Given the description of an element on the screen output the (x, y) to click on. 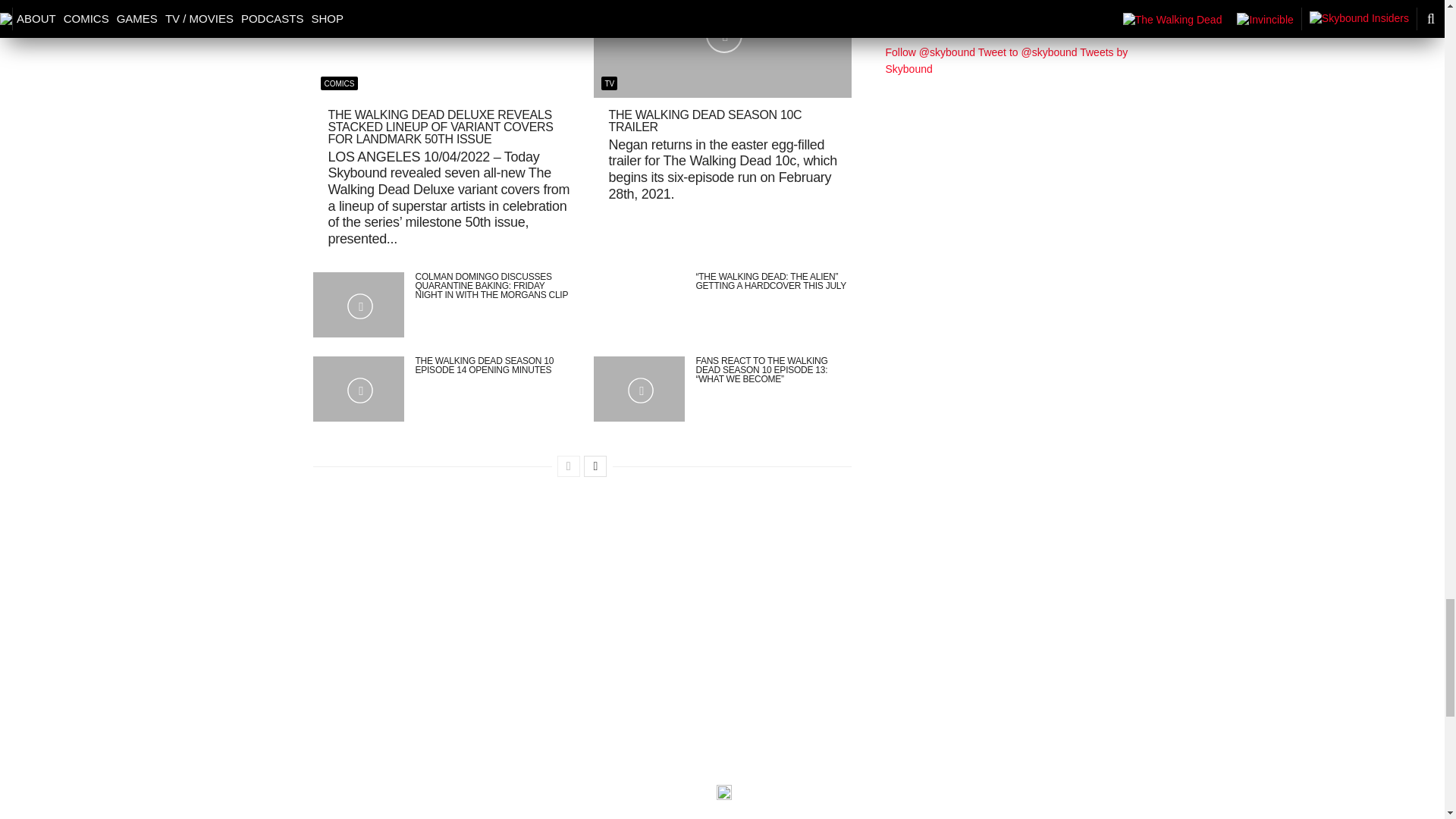
Next (595, 465)
skybound-black-262626 (724, 792)
Previous (568, 465)
